Given the description of an element on the screen output the (x, y) to click on. 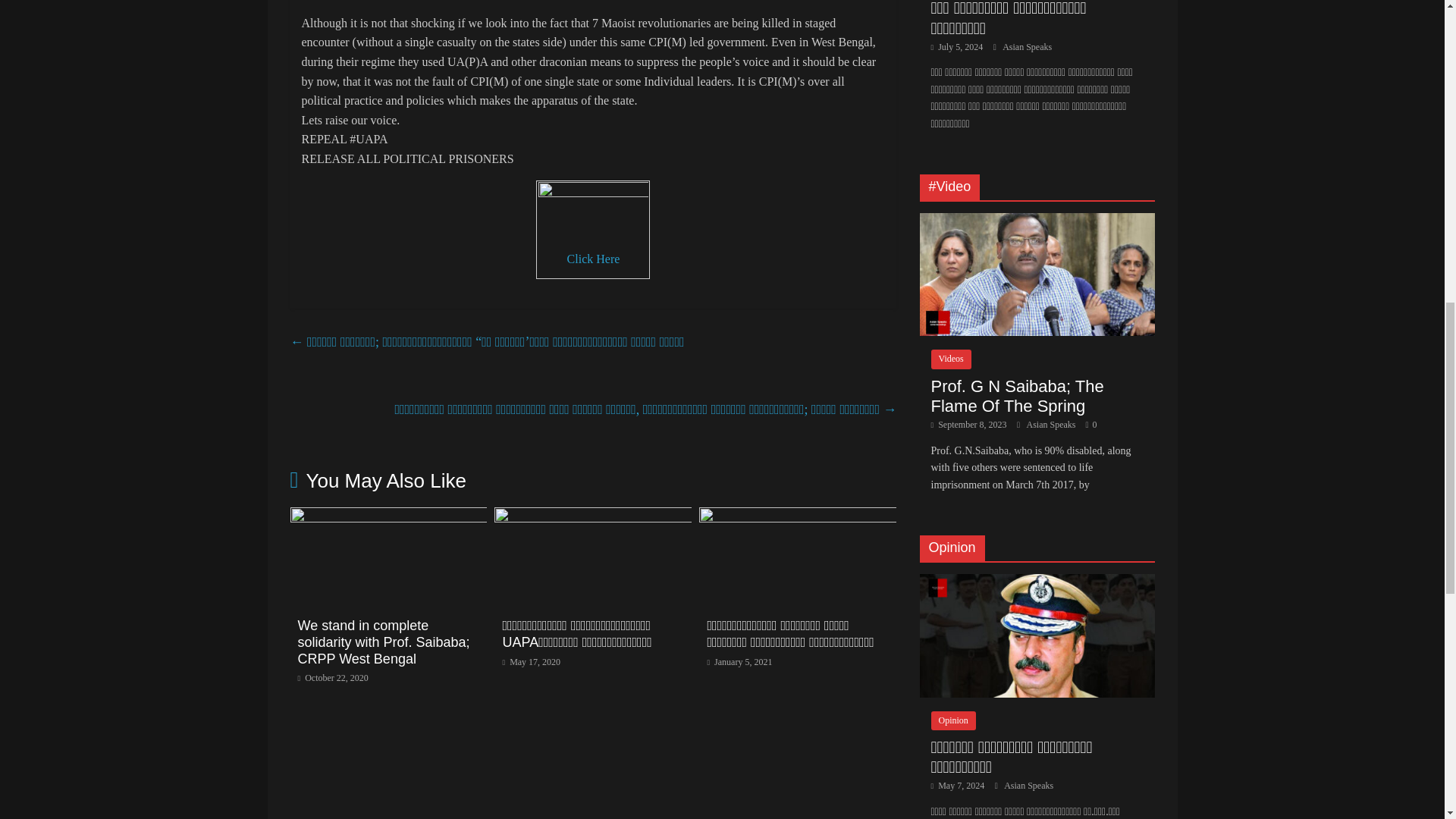
9:51 am (531, 661)
May 17, 2020 (531, 661)
11:58 am (332, 677)
October 22, 2020 (332, 677)
4:52 am (738, 661)
January 5, 2021 (738, 661)
Click Here (593, 258)
